Given the description of an element on the screen output the (x, y) to click on. 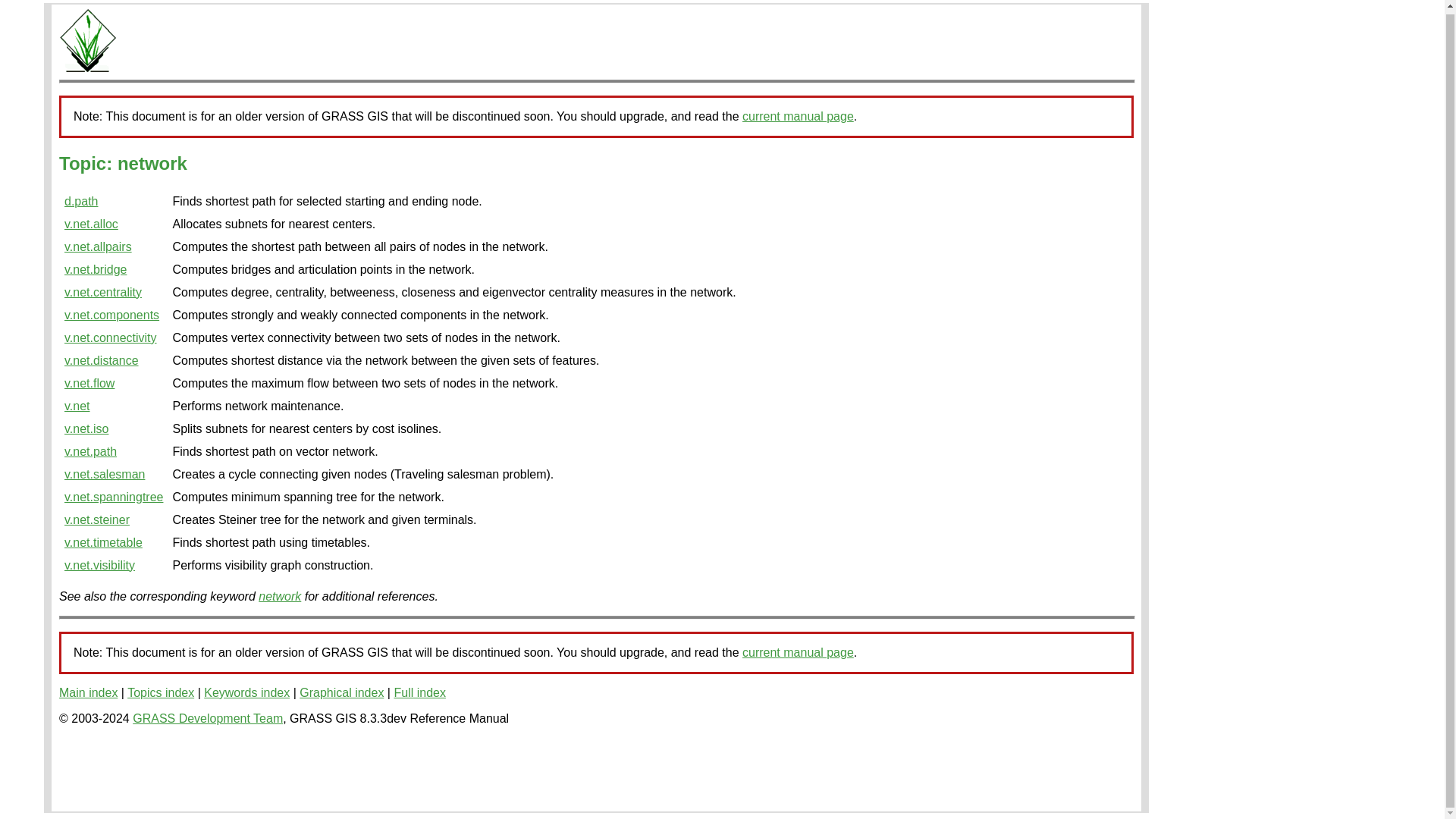
v.net.allpairs (98, 246)
Graphical index (341, 692)
v.net.spanningtree (113, 496)
v.net.components (111, 314)
v.net.steiner (96, 519)
v.net.bridge (95, 269)
current manual page (797, 652)
v.net.connectivity (110, 337)
Full index (419, 692)
Main index (88, 692)
